Given the description of an element on the screen output the (x, y) to click on. 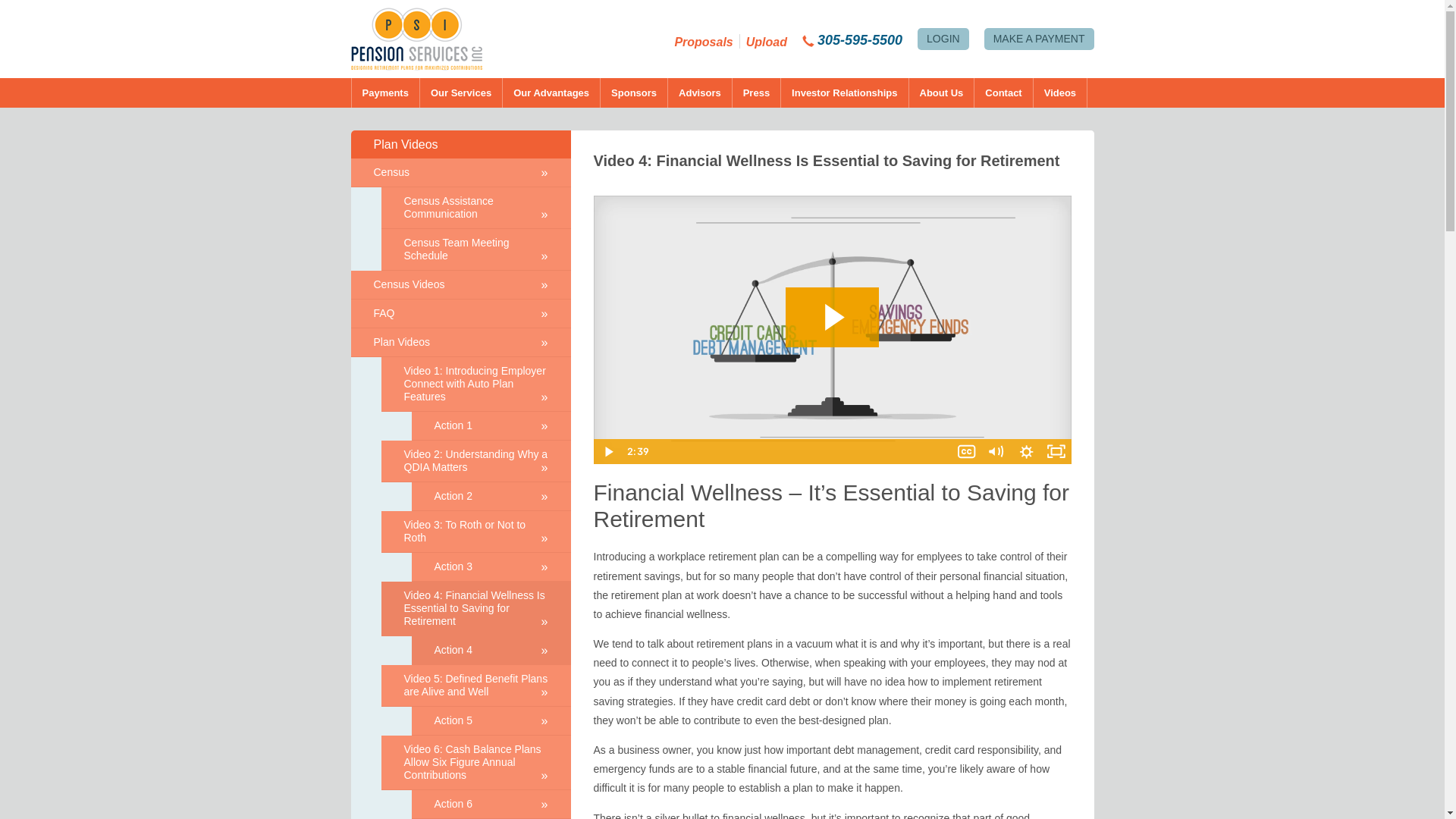
Proposals (703, 42)
Show captions menu (966, 451)
Pension Services Inc. (421, 38)
Our Services (461, 92)
LOGIN (943, 38)
Sponsors (633, 92)
Our Advantages (550, 92)
Play Video (607, 451)
Payments (384, 92)
MAKE A PAYMENT (1039, 38)
Plan Videos (460, 144)
Show settings menu (1026, 451)
Pension Services Inc. (421, 38)
Mute (995, 451)
Fullscreen (1055, 451)
